Given the description of an element on the screen output the (x, y) to click on. 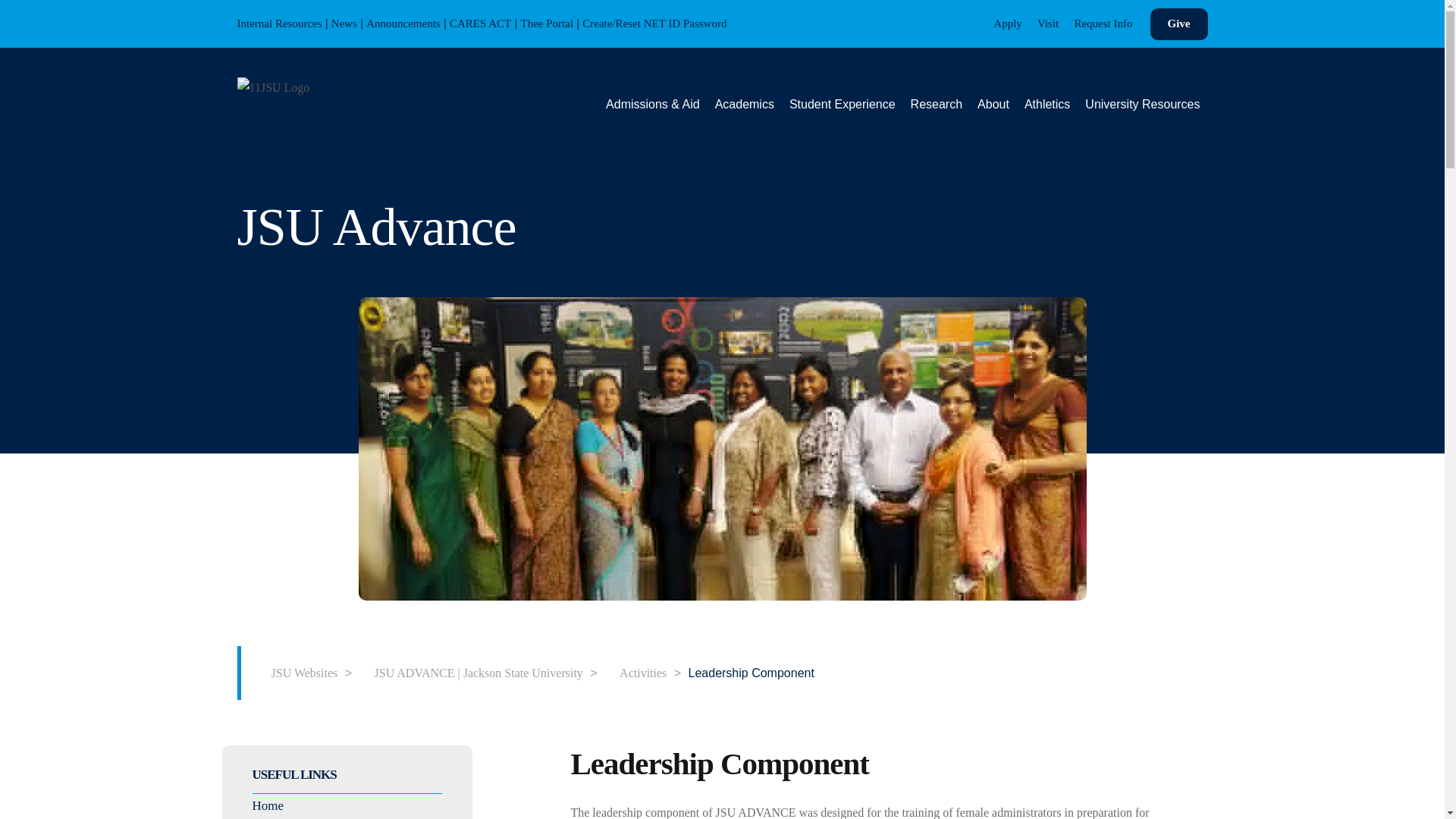
Skip to main content (11, 11)
Go to Activities. (635, 671)
Go to JSU Websites. (296, 671)
2logo (271, 86)
